Given the description of an element on the screen output the (x, y) to click on. 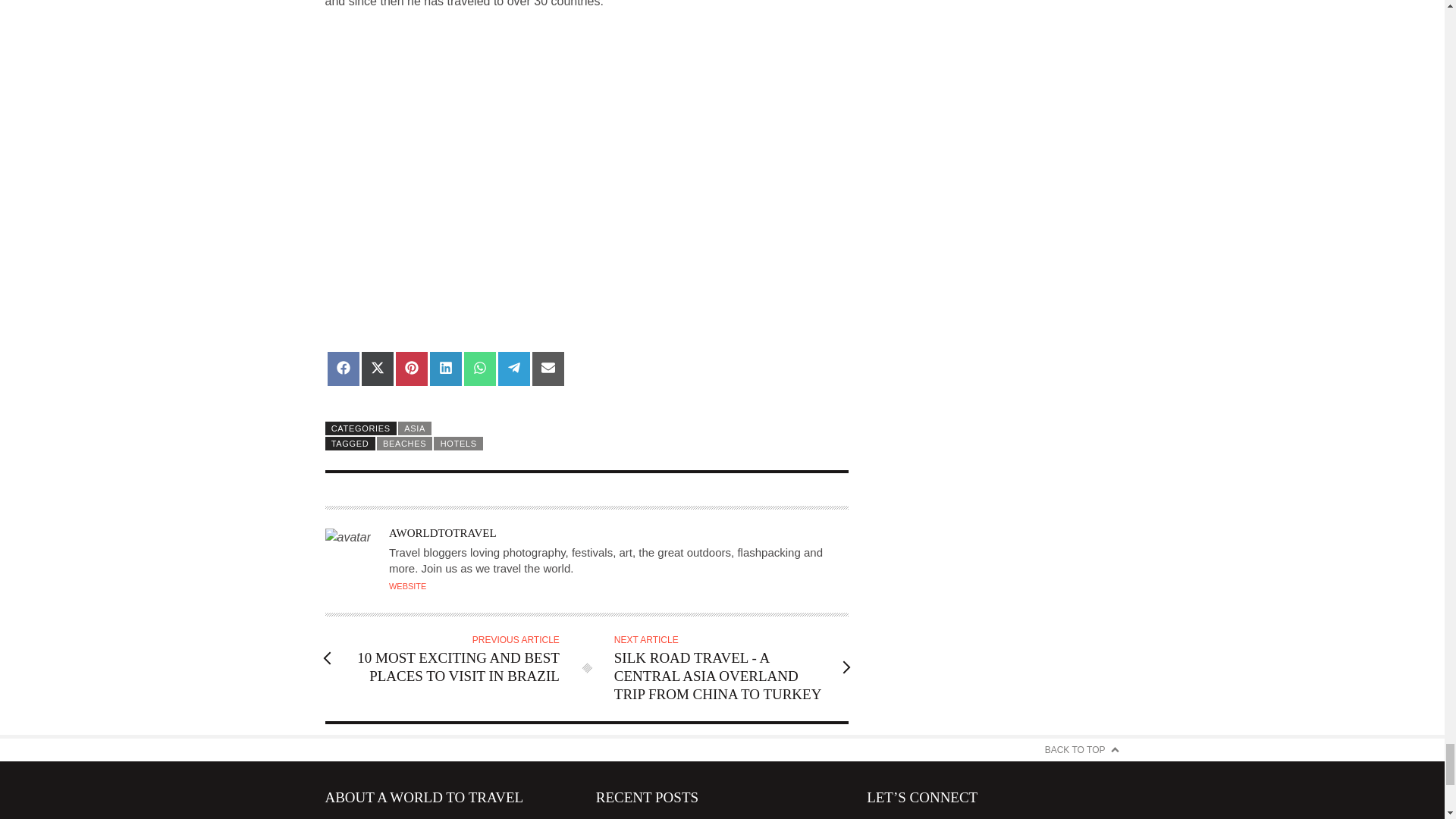
Posts by aworldtotravel (442, 532)
View all posts in ASIA (413, 427)
View all posts tagged beaches (404, 443)
View all posts tagged hotels (458, 443)
